Given the description of an element on the screen output the (x, y) to click on. 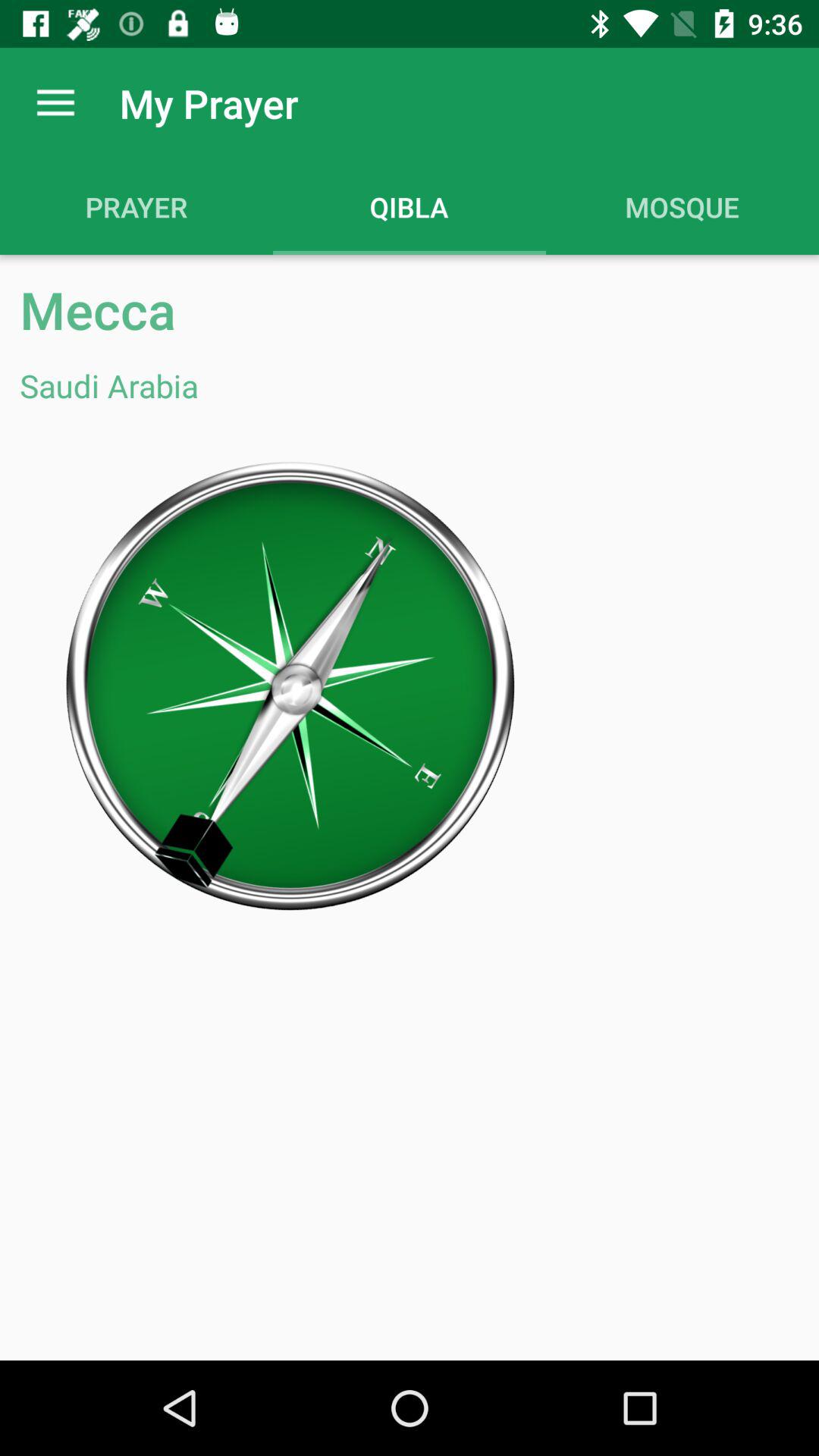
launch the app next to the my prayer app (55, 103)
